Given the description of an element on the screen output the (x, y) to click on. 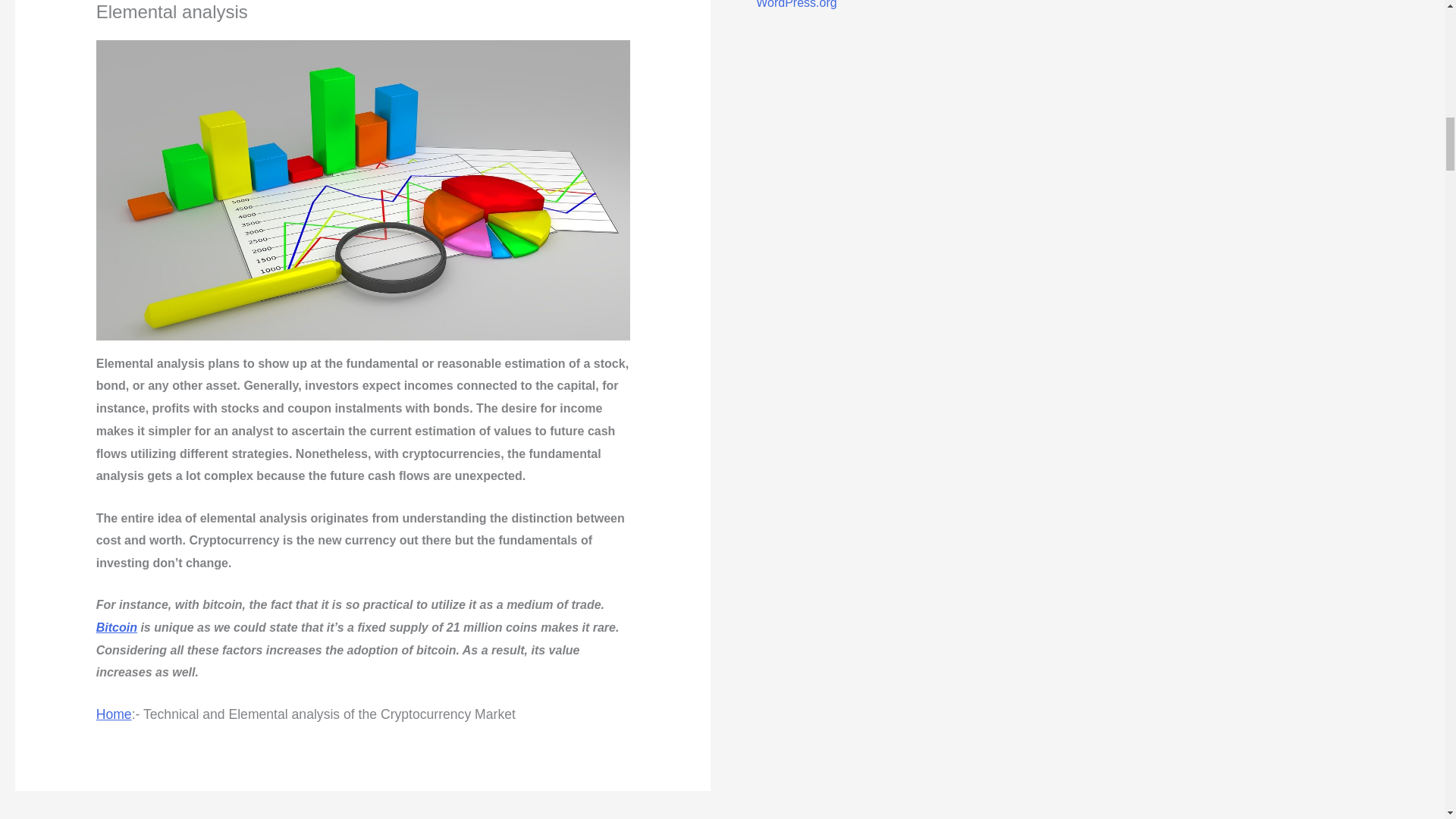
Bitcoin (116, 626)
Home (114, 713)
